Given the description of an element on the screen output the (x, y) to click on. 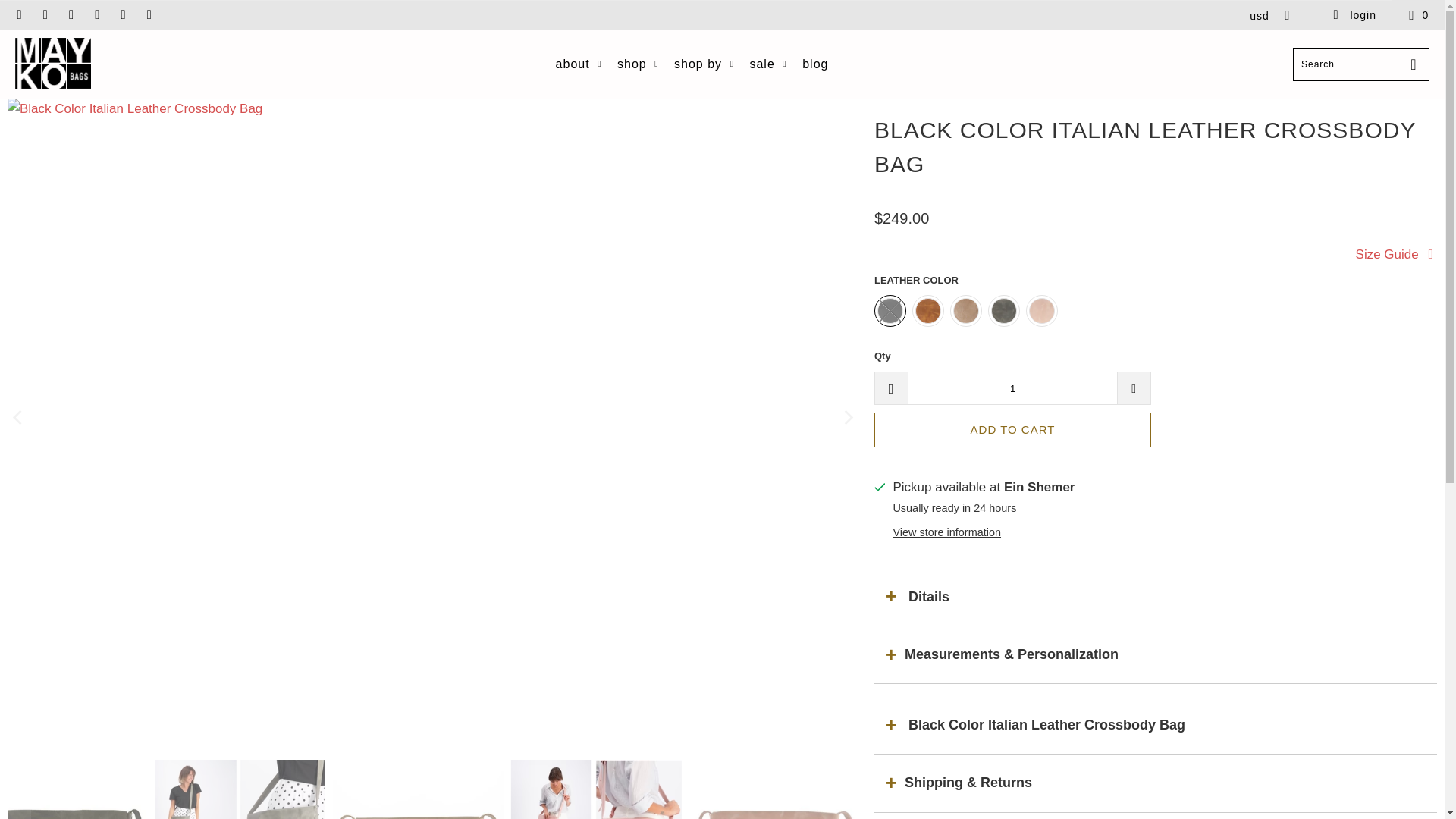
Email Mayko Bags (148, 15)
My Account  (1353, 15)
1 (1012, 387)
Mayko Bags on Facebook (44, 15)
Mayko Bags on Instagram (123, 15)
Mayko Bags (52, 63)
Mayko Bags on Pinterest (96, 15)
Mayko Bags on Twitter (18, 15)
Mayko Bags on YouTube (71, 15)
